Given the description of an element on the screen output the (x, y) to click on. 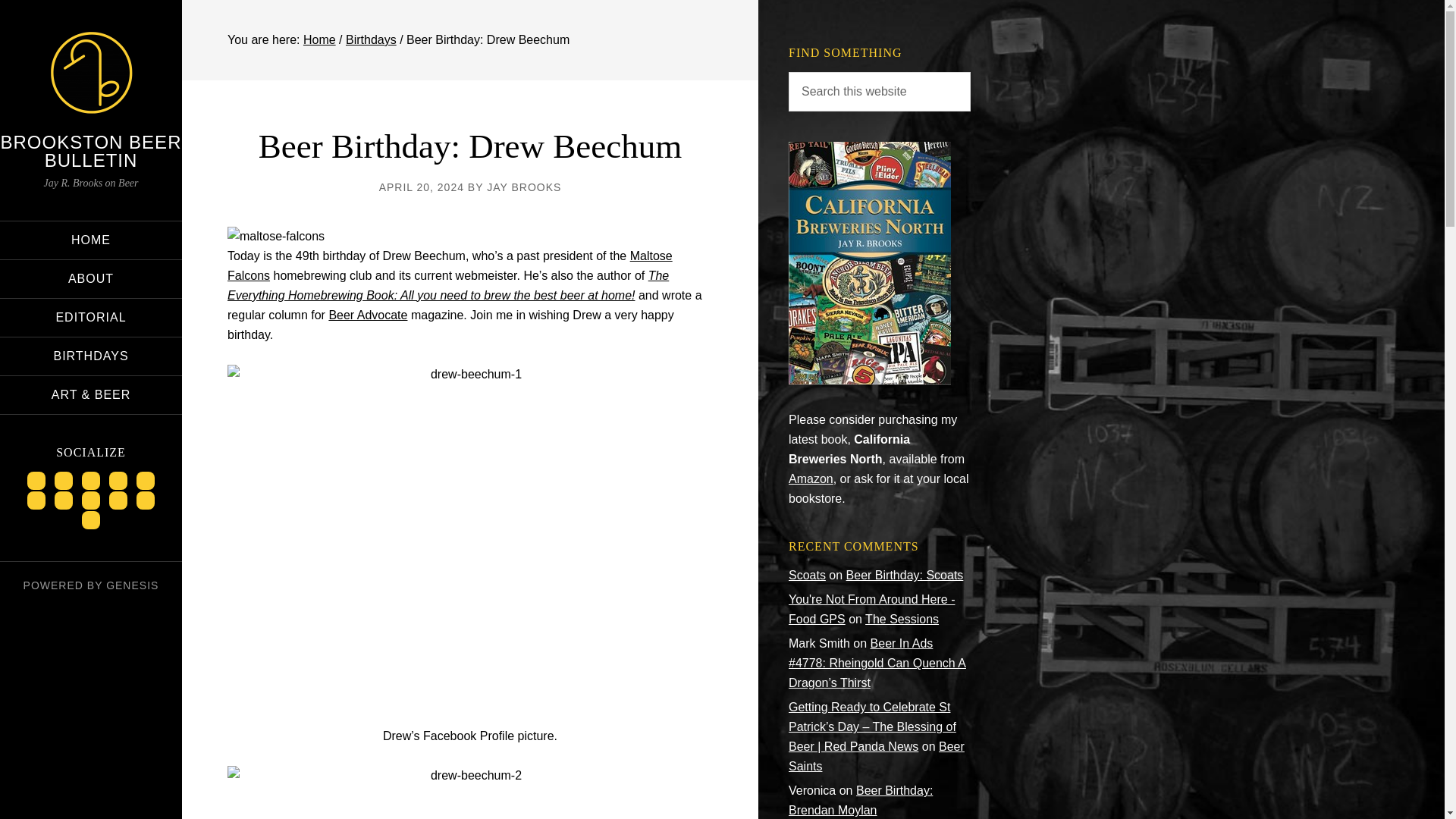
Scoats (807, 574)
GENESIS (132, 585)
ABOUT (91, 279)
BIRTHDAYS (91, 356)
You're Not From Around Here - Food GPS (872, 608)
Beer Advocate (368, 314)
JAY BROOKS (523, 186)
Amazon (810, 478)
